Given the description of an element on the screen output the (x, y) to click on. 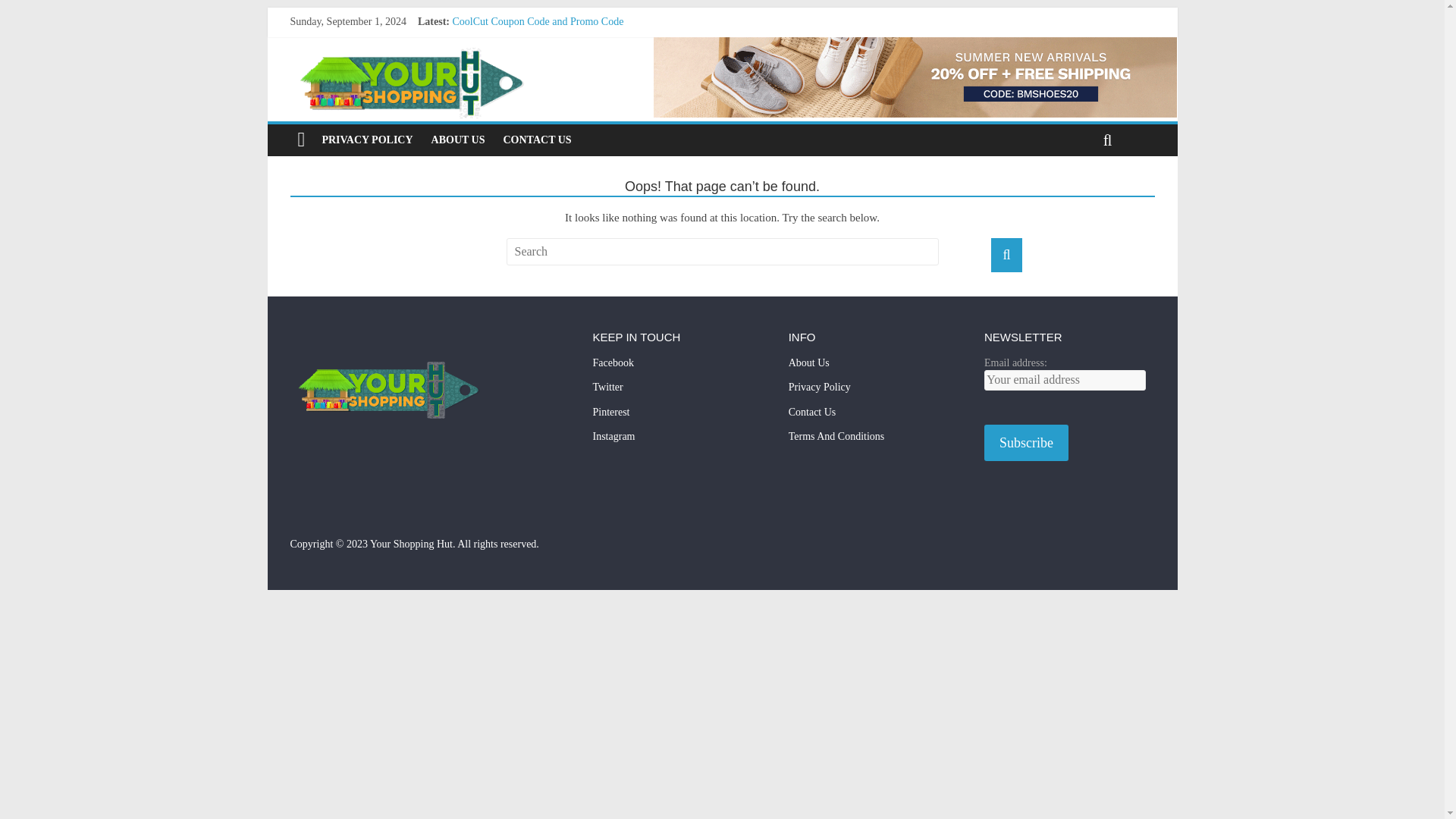
Subscribe (1026, 443)
Comfelie Coupon Code and Promo Code (539, 71)
Privacy Policy (874, 392)
Contact Us (874, 416)
About Us (874, 367)
PRIVACY POLICY (367, 140)
Kingston Brass Coupon Code and Promo Code (551, 89)
Twitter (677, 392)
ABOUT US (458, 140)
Facebook (677, 367)
